Given the description of an element on the screen output the (x, y) to click on. 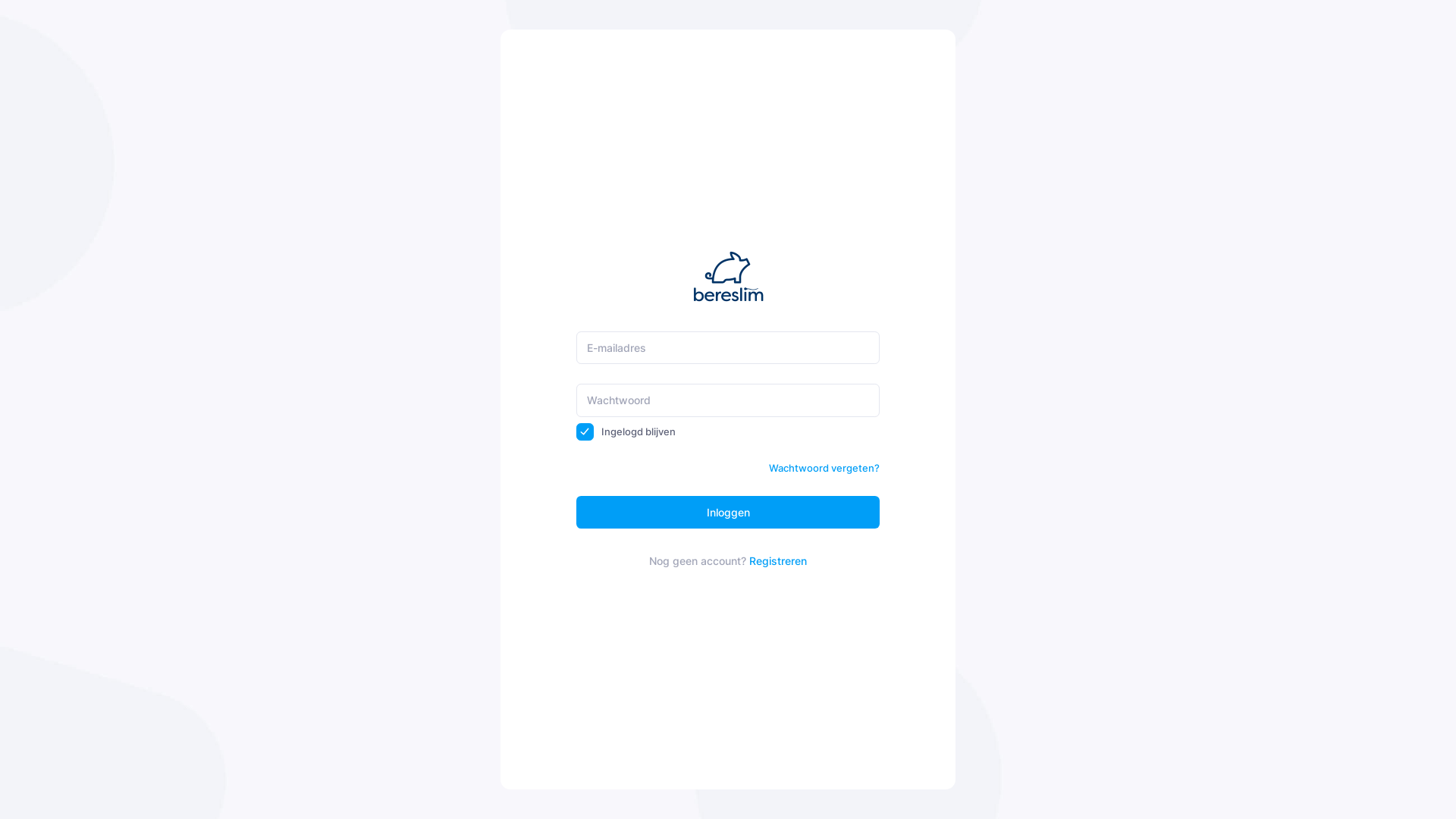
Inloggen Element type: text (727, 512)
Wachtwoord vergeten? Element type: text (823, 468)
Registreren Element type: text (777, 560)
